Given the description of an element on the screen output the (x, y) to click on. 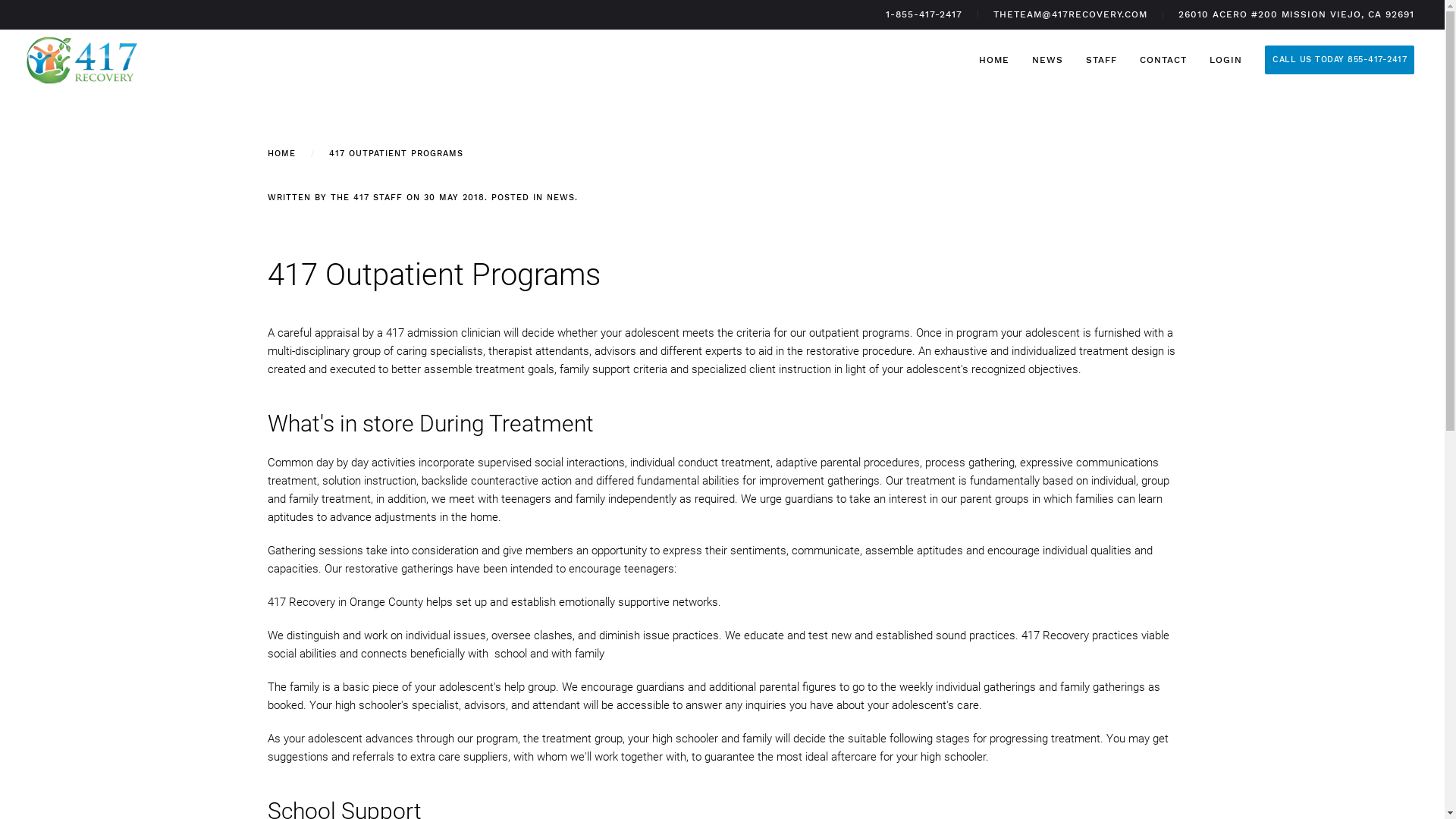
LOGIN Element type: text (1225, 59)
HOME Element type: text (280, 153)
CONTACT Element type: text (1163, 59)
STAFF Element type: text (1101, 59)
26010 ACERO #200 MISSION VIEJO, CA 92691 Element type: text (1296, 14)
THETEAM@417RECOVERY.COM Element type: text (1070, 14)
NEWS Element type: text (560, 197)
NEWS Element type: text (1047, 59)
1-855-417-2417 Element type: text (923, 14)
HOME Element type: text (993, 59)
